Given the description of an element on the screen output the (x, y) to click on. 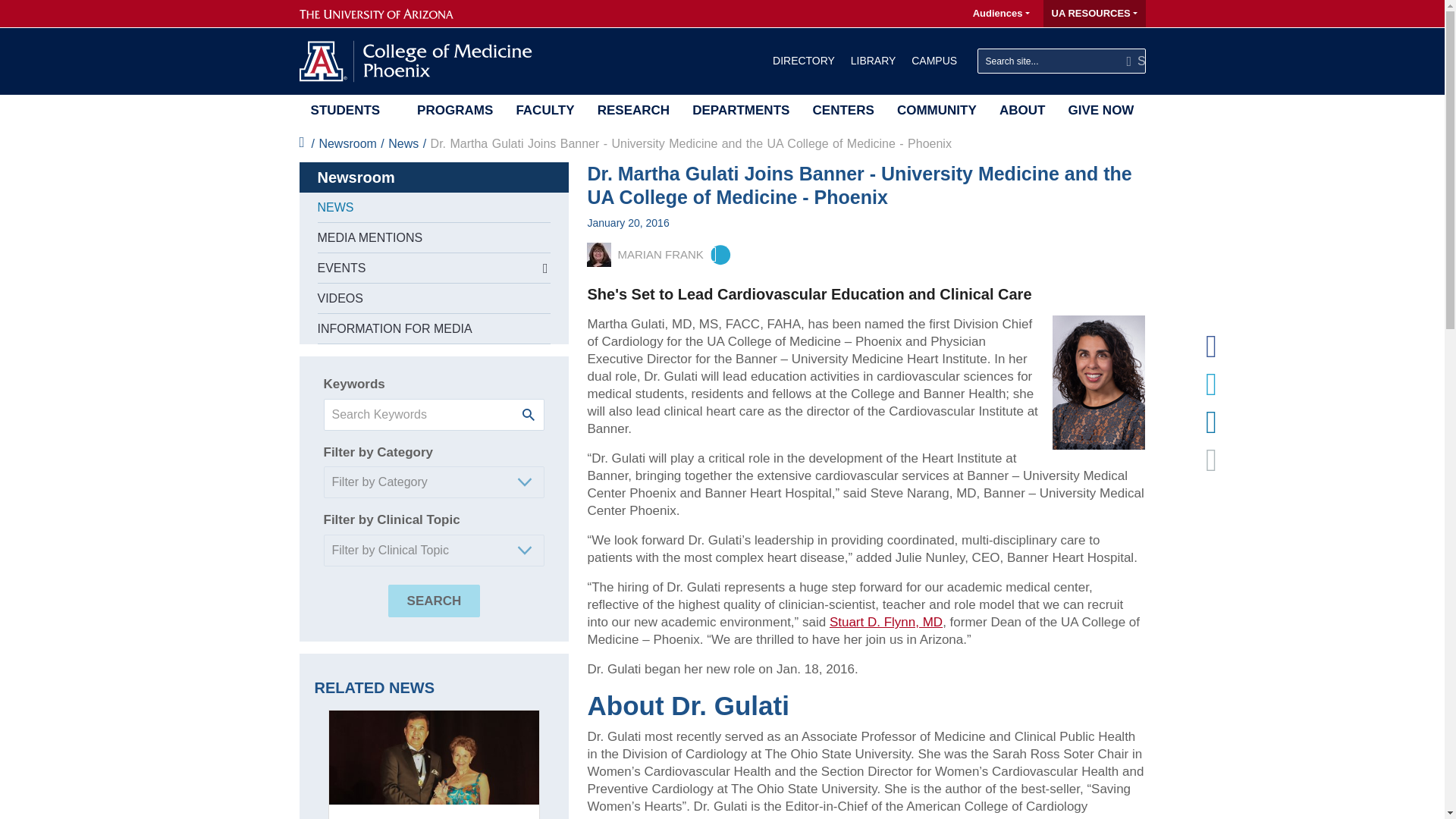
THE UNIVERSITY OF ARIZONA (382, 13)
Audiences (999, 13)
STUDENTS (344, 110)
LIBRARY (872, 60)
Search (1129, 61)
CAMPUS (934, 60)
DIRECTORY (804, 60)
